Given the description of an element on the screen output the (x, y) to click on. 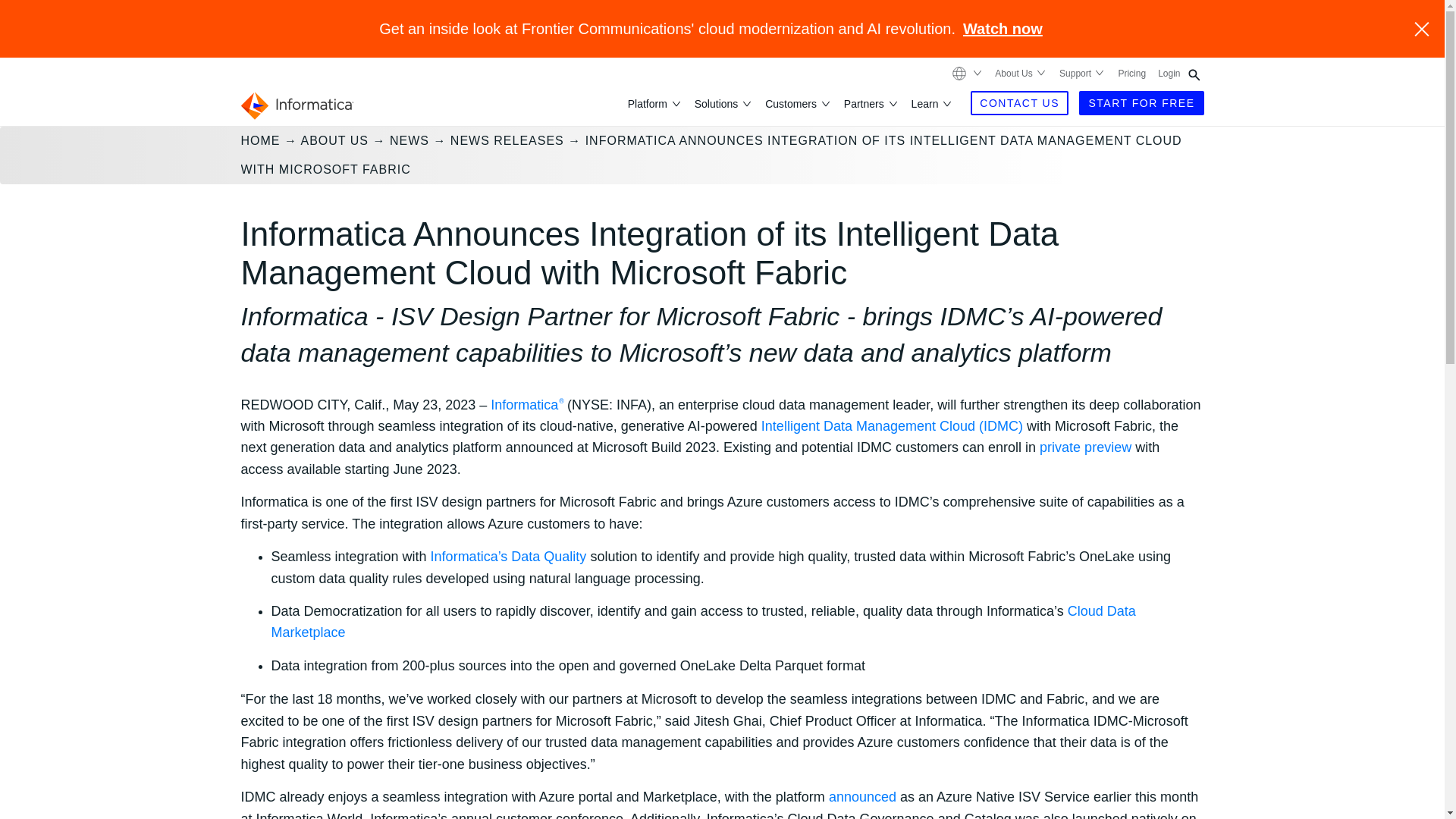
Solutions (717, 103)
Watch now (1002, 28)
Platform (648, 103)
